Given the description of an element on the screen output the (x, y) to click on. 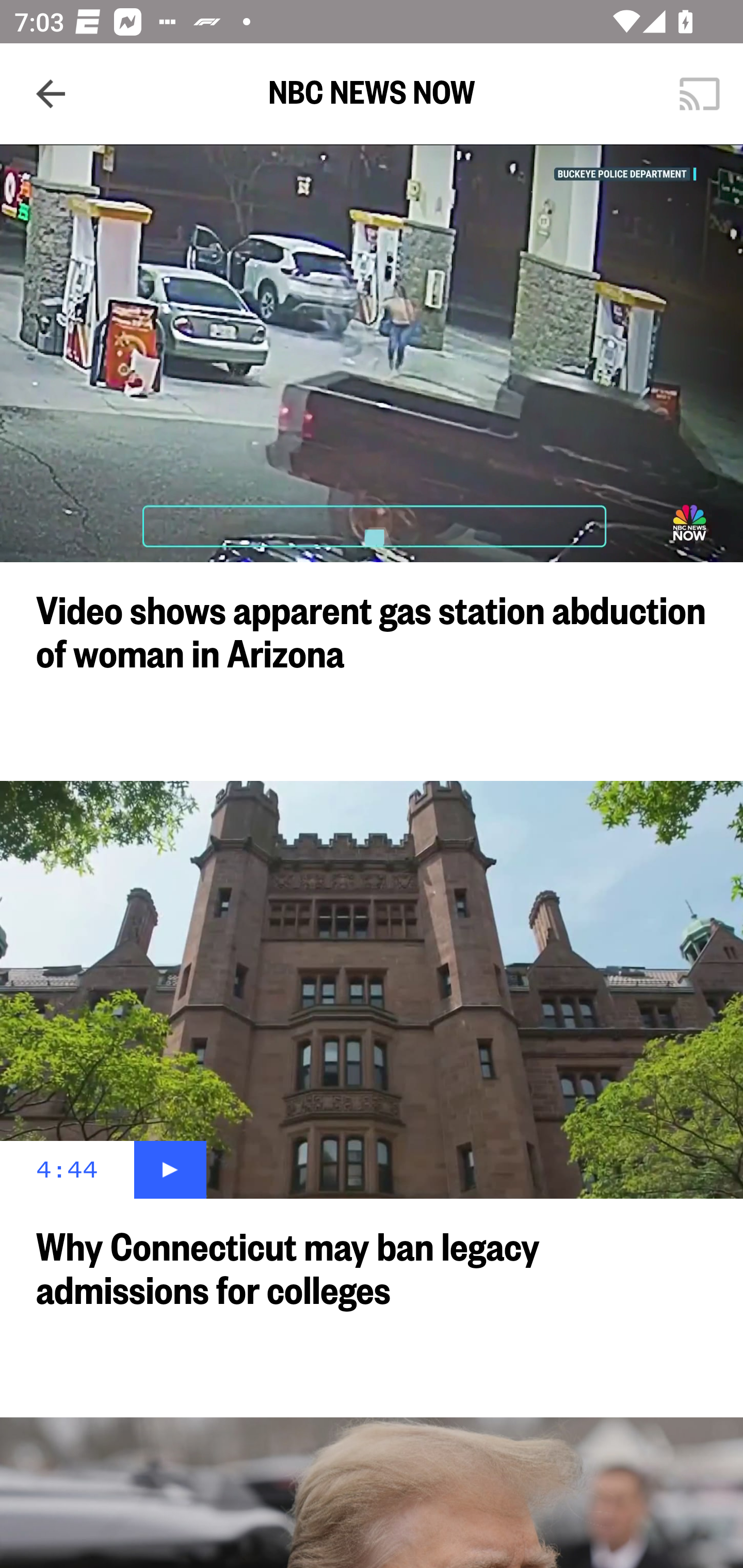
Navigate up (50, 93)
Cast. Disconnected (699, 93)
